Given the description of an element on the screen output the (x, y) to click on. 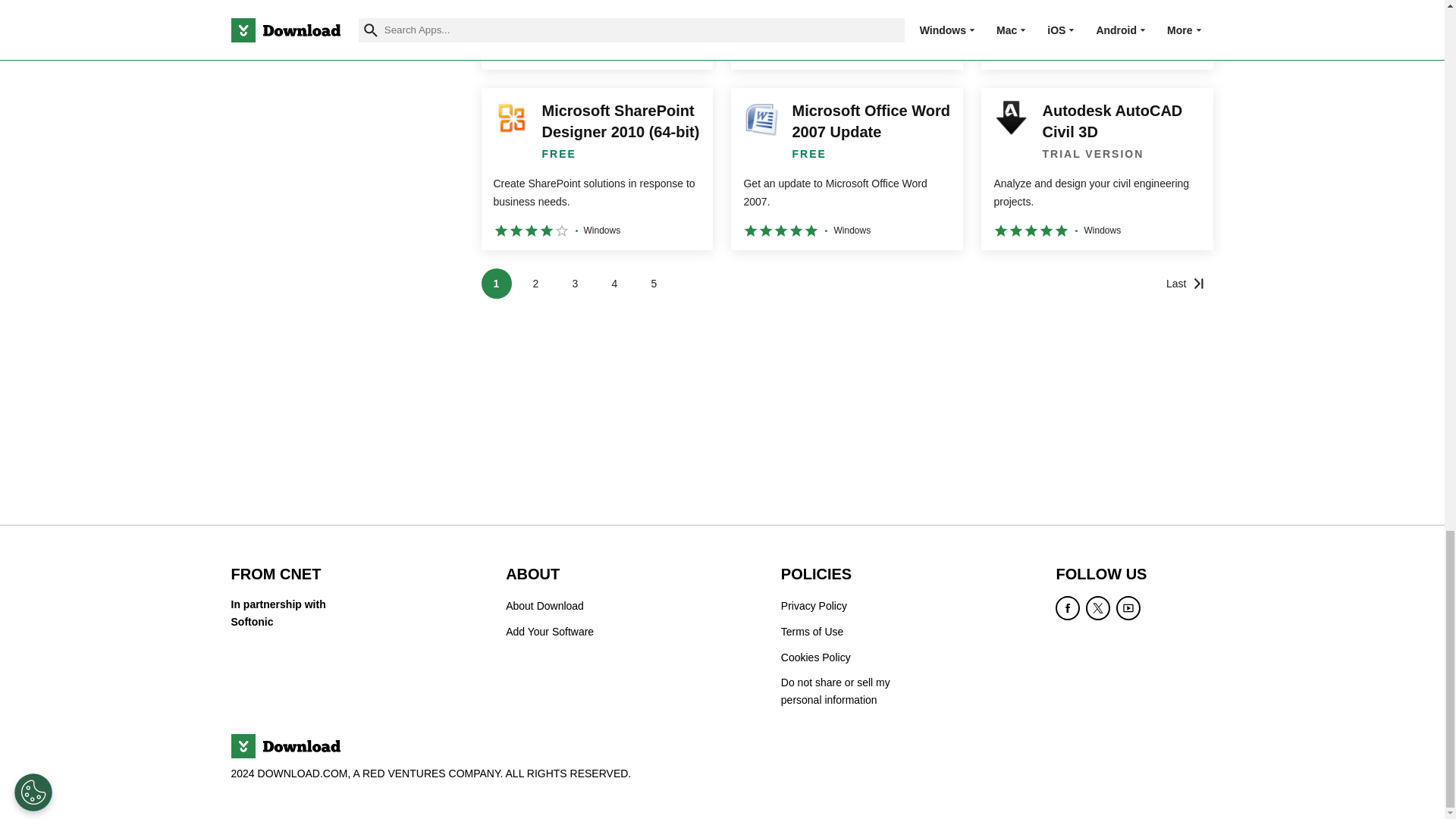
Zareklamy - Make money online for free (846, 34)
Adobe Acrobat Reader DC (596, 34)
